Given the description of an element on the screen output the (x, y) to click on. 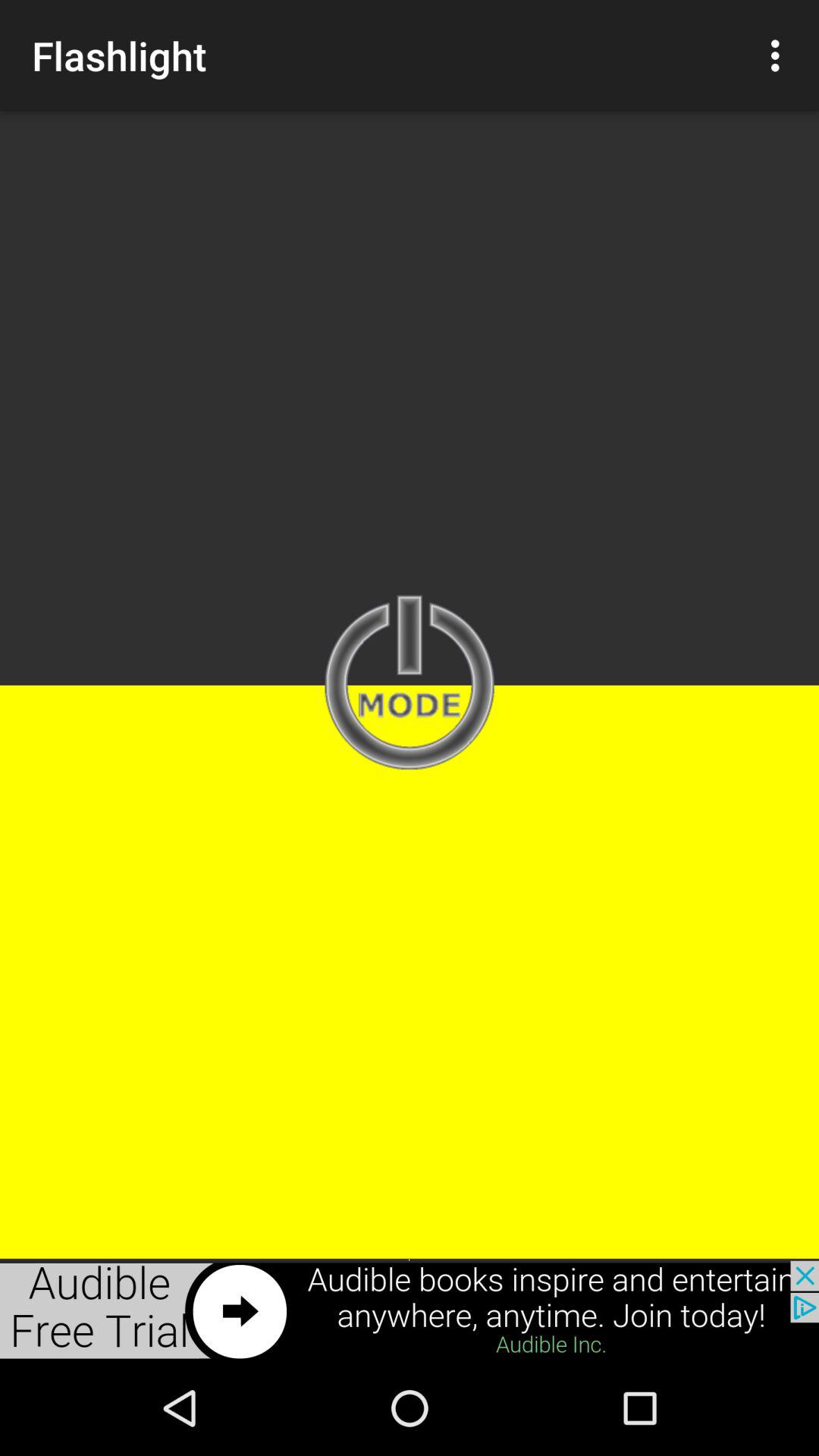
advert pop up (409, 1310)
